Given the description of an element on the screen output the (x, y) to click on. 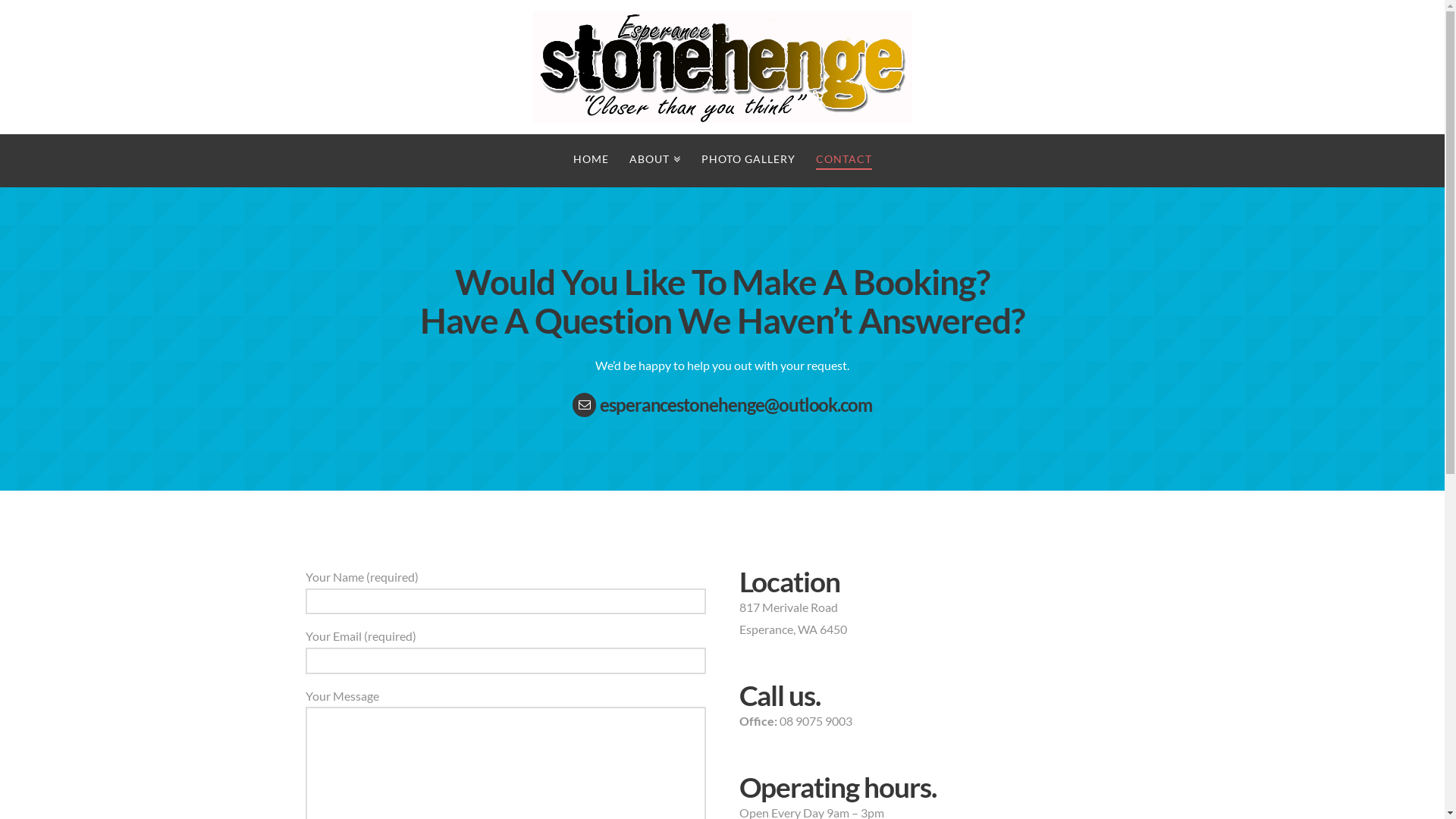
CONTACT Element type: text (843, 160)
HOME Element type: text (590, 160)
Closer than you think Element type: hover (721, 66)
ABOUT Element type: text (654, 160)
PHOTO GALLERY Element type: text (747, 160)
